Given the description of an element on the screen output the (x, y) to click on. 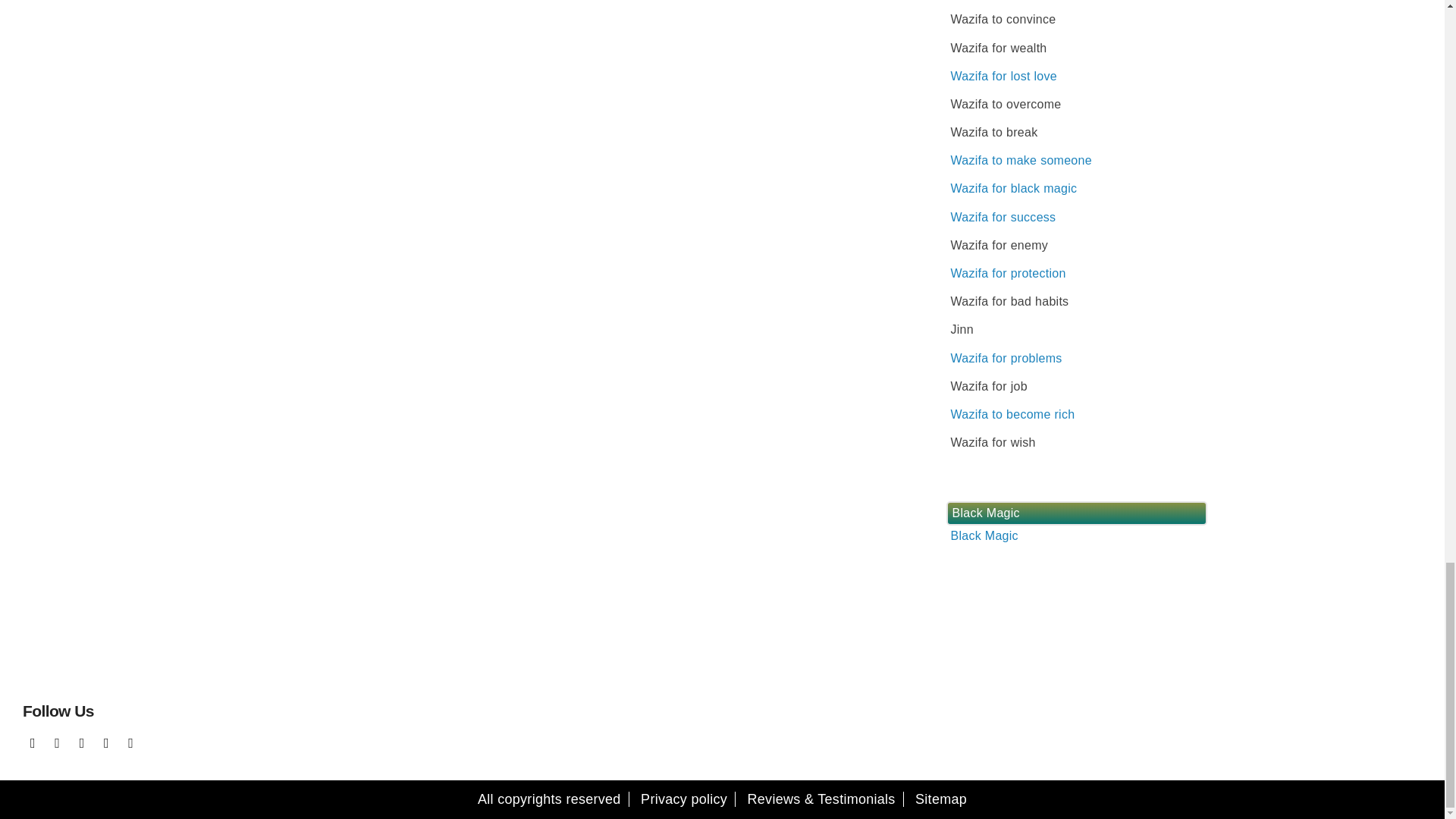
sitemap (940, 798)
Privacy policy (684, 798)
Wazifa to make someone (1020, 160)
Wazifa for success (1002, 216)
All copyrights reserved (549, 798)
Wazifa for lost love (1003, 75)
Wazifa for black magic (1013, 187)
